Given the description of an element on the screen output the (x, y) to click on. 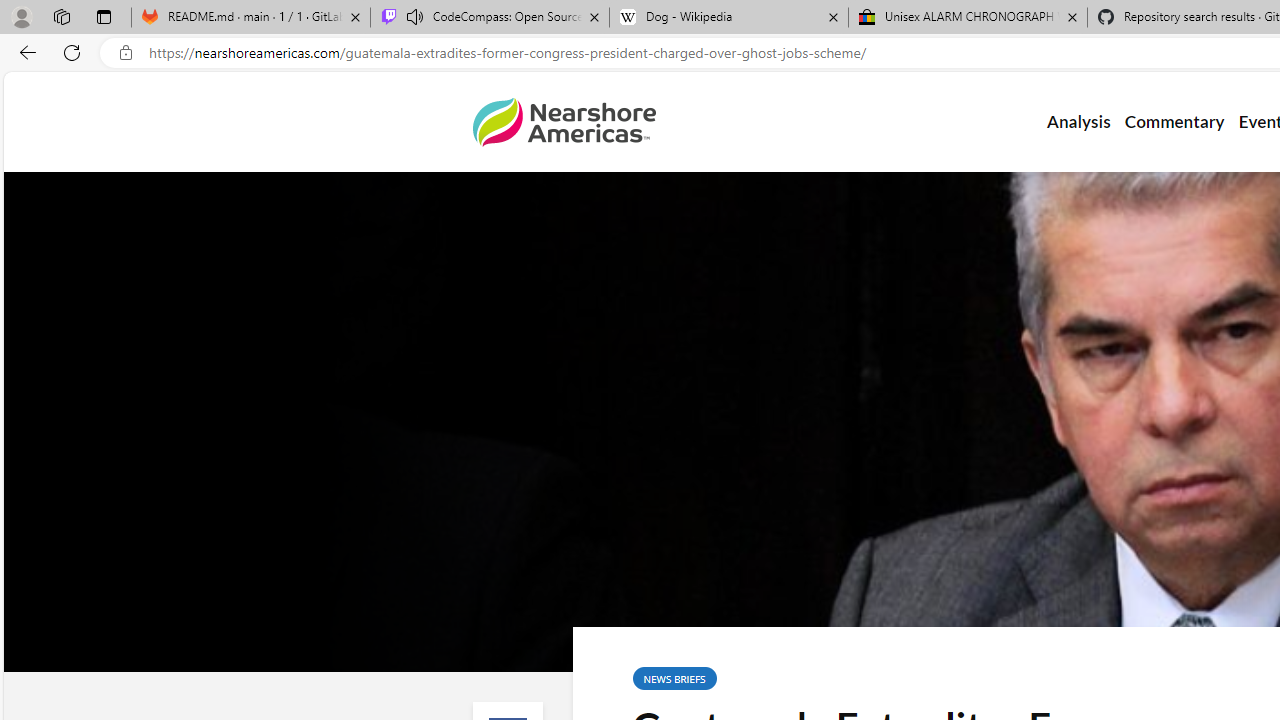
Analysis (1078, 121)
NEWS BRIEFS (674, 677)
Nearshore Americas (563, 121)
Nearshore Americas (563, 121)
Analysis (1078, 121)
Commentary (1174, 121)
Mute tab (414, 16)
